Given the description of an element on the screen output the (x, y) to click on. 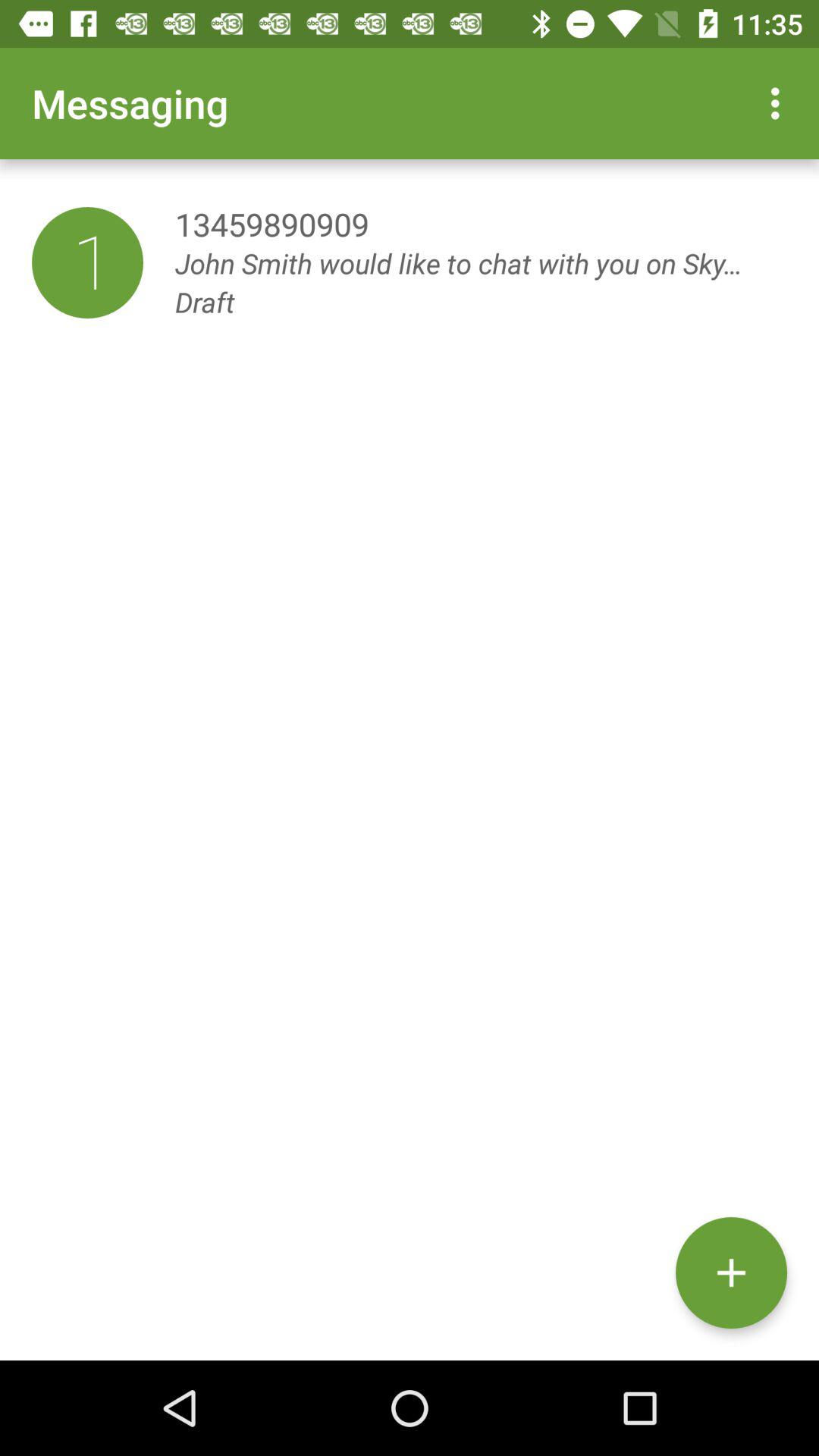
open the item next to 13459890909 icon (87, 262)
